Given the description of an element on the screen output the (x, y) to click on. 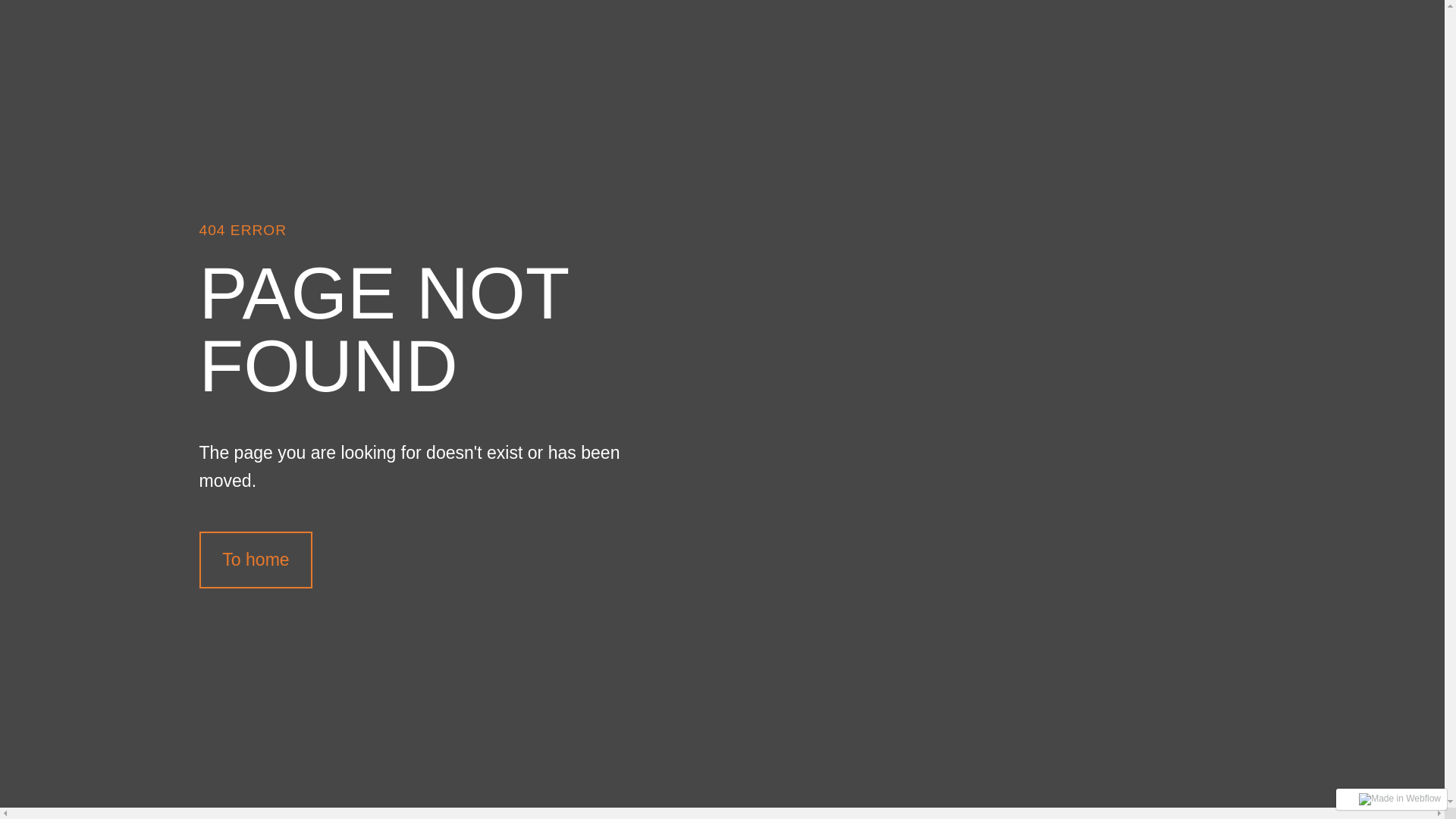
To home Element type: text (255, 559)
